Given the description of an element on the screen output the (x, y) to click on. 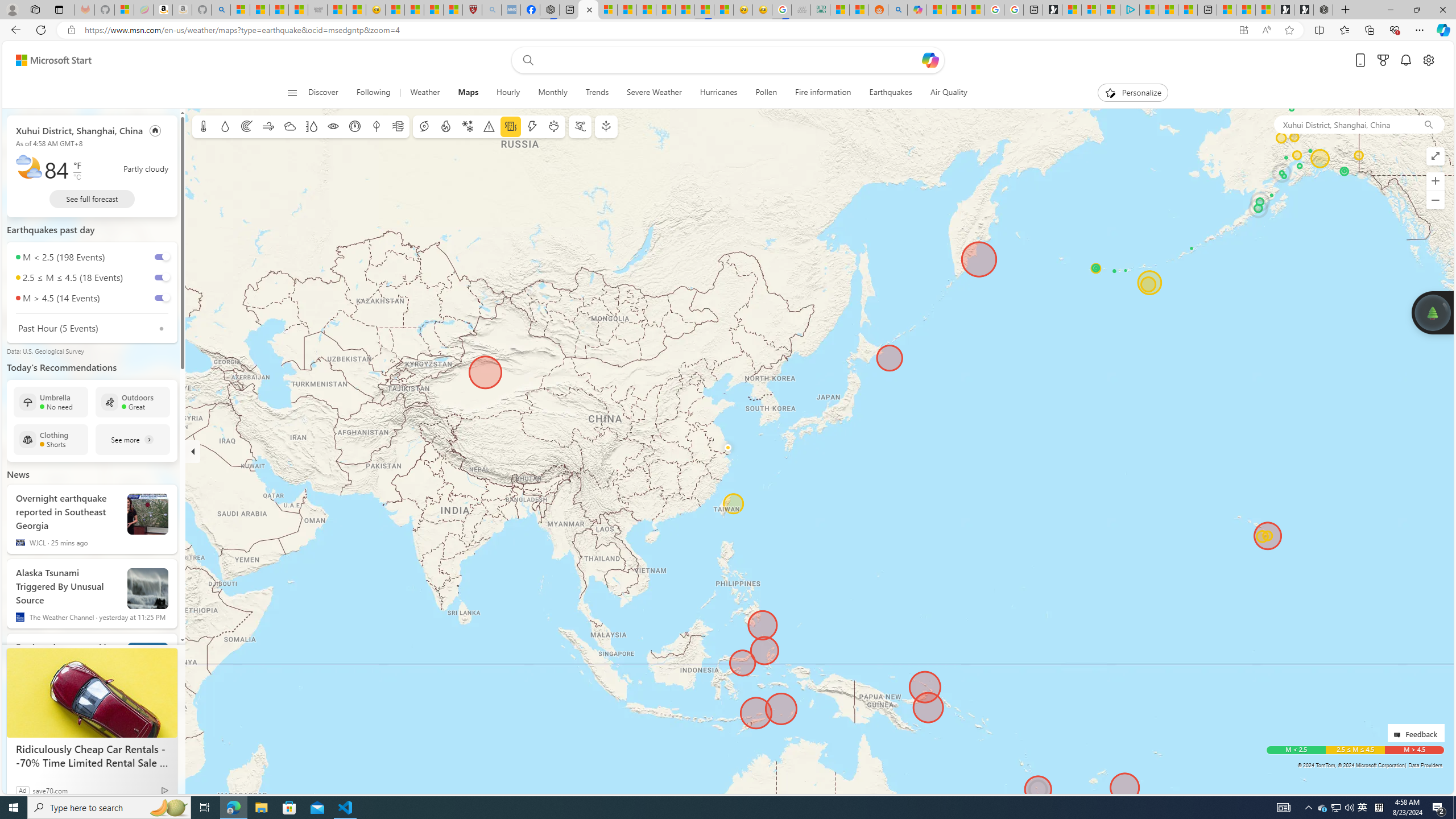
Wind (267, 126)
Science - MSN (433, 9)
Following (373, 92)
Monthly (552, 92)
Pollen (766, 92)
Overnight earthquake reported in Southeast Georgia (148, 513)
Workspaces (34, 9)
Hourly (507, 92)
14 Common Myths Debunked By Scientific Facts (664, 9)
Favorites (1344, 29)
See full forecast (92, 199)
Web search (526, 60)
